Given the description of an element on the screen output the (x, y) to click on. 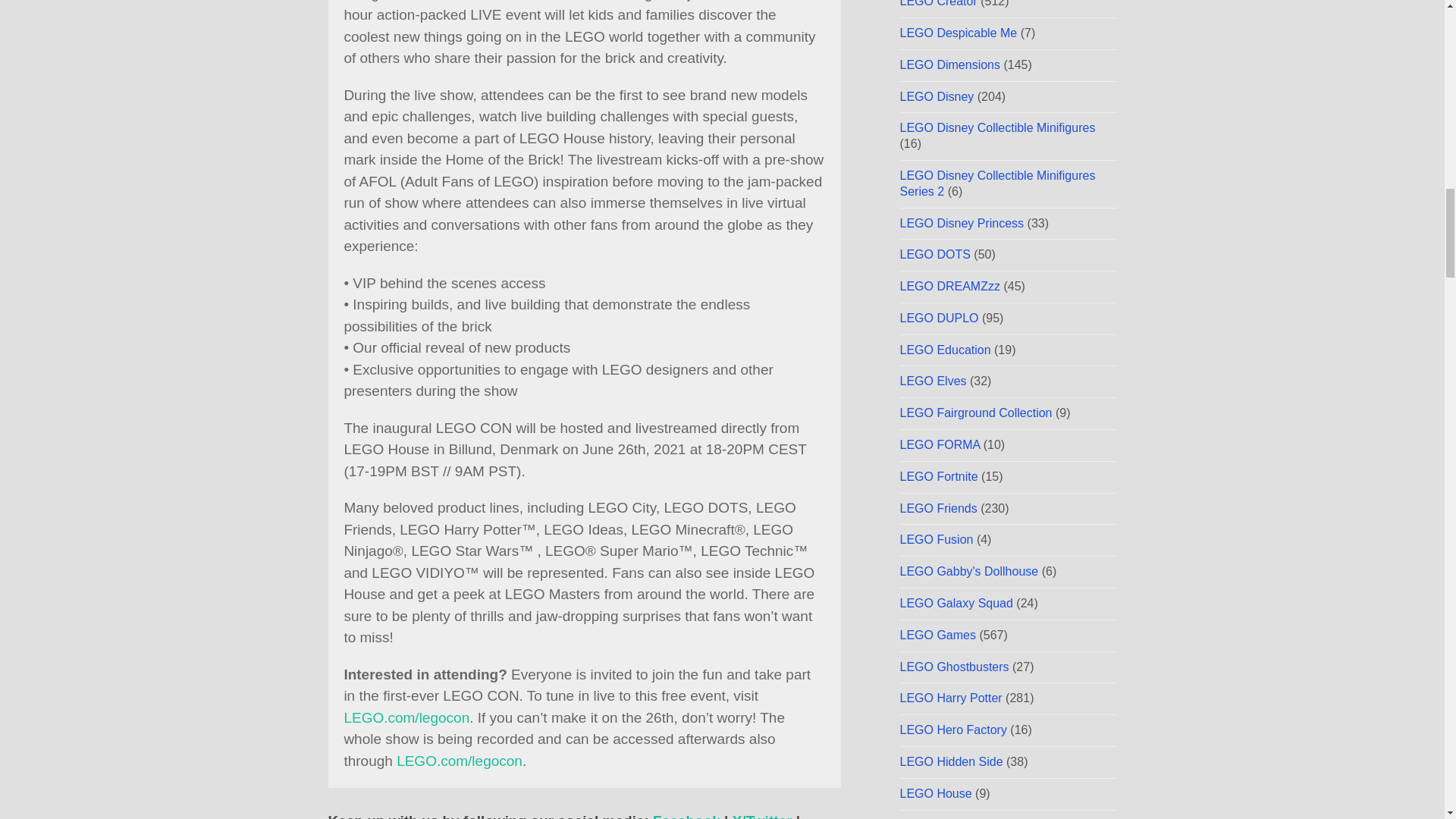
Facebook (686, 816)
